Given the description of an element on the screen output the (x, y) to click on. 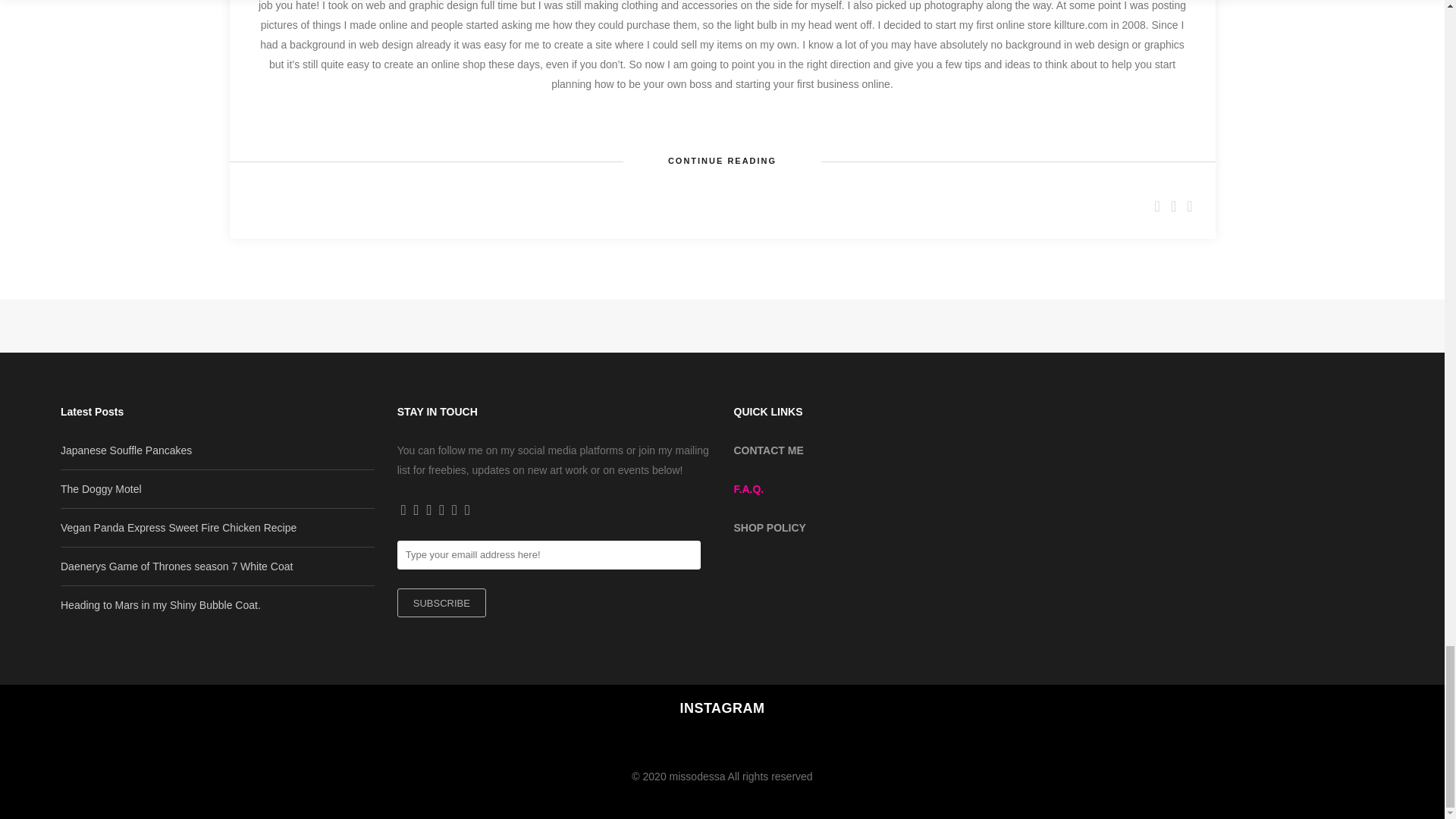
Subscribe (441, 602)
